Given the description of an element on the screen output the (x, y) to click on. 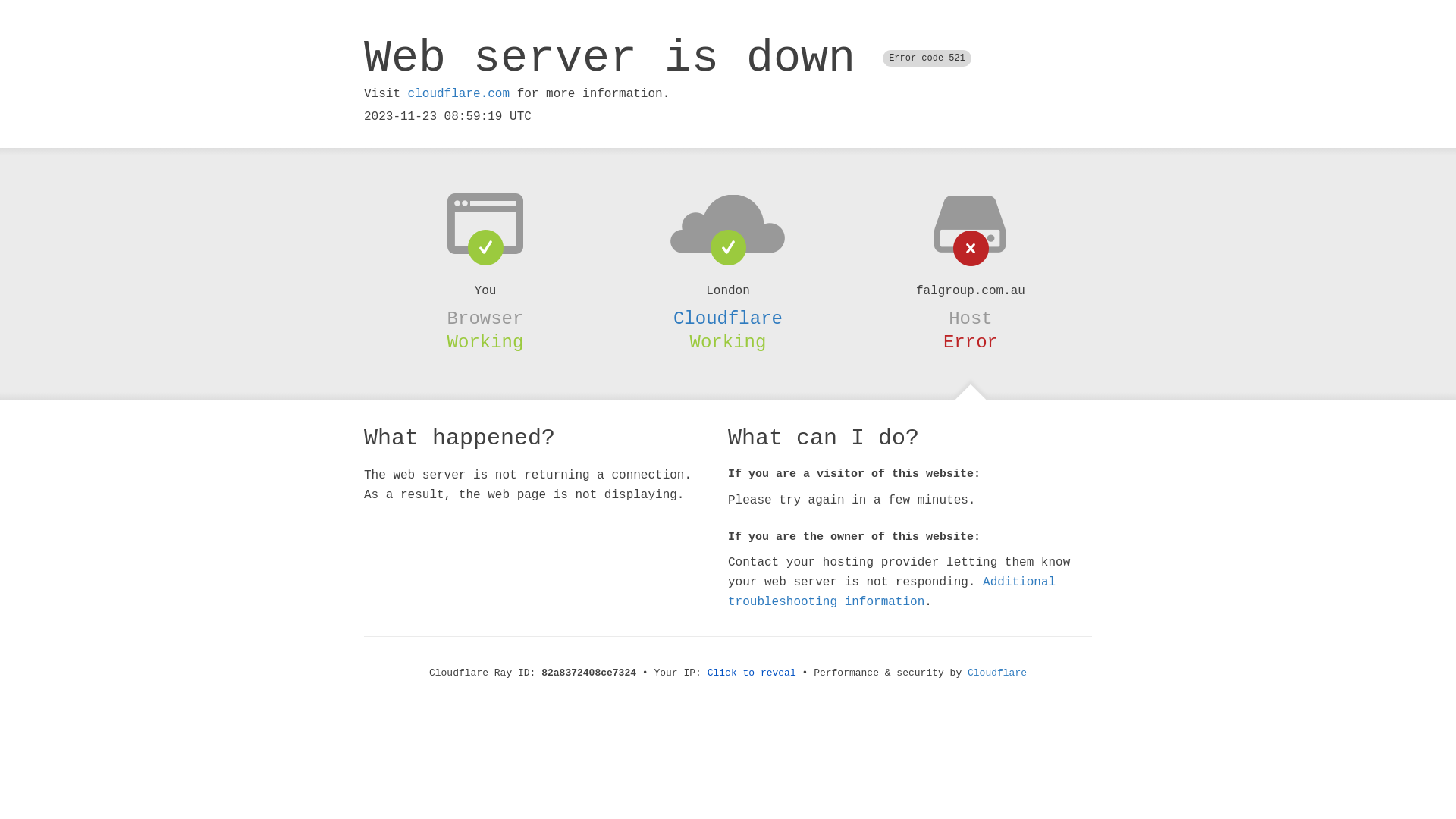
Cloudflare Element type: text (996, 672)
Additional troubleshooting information Element type: text (891, 591)
cloudflare.com Element type: text (458, 93)
Cloudflare Element type: text (727, 318)
Click to reveal Element type: text (751, 672)
